Given the description of an element on the screen output the (x, y) to click on. 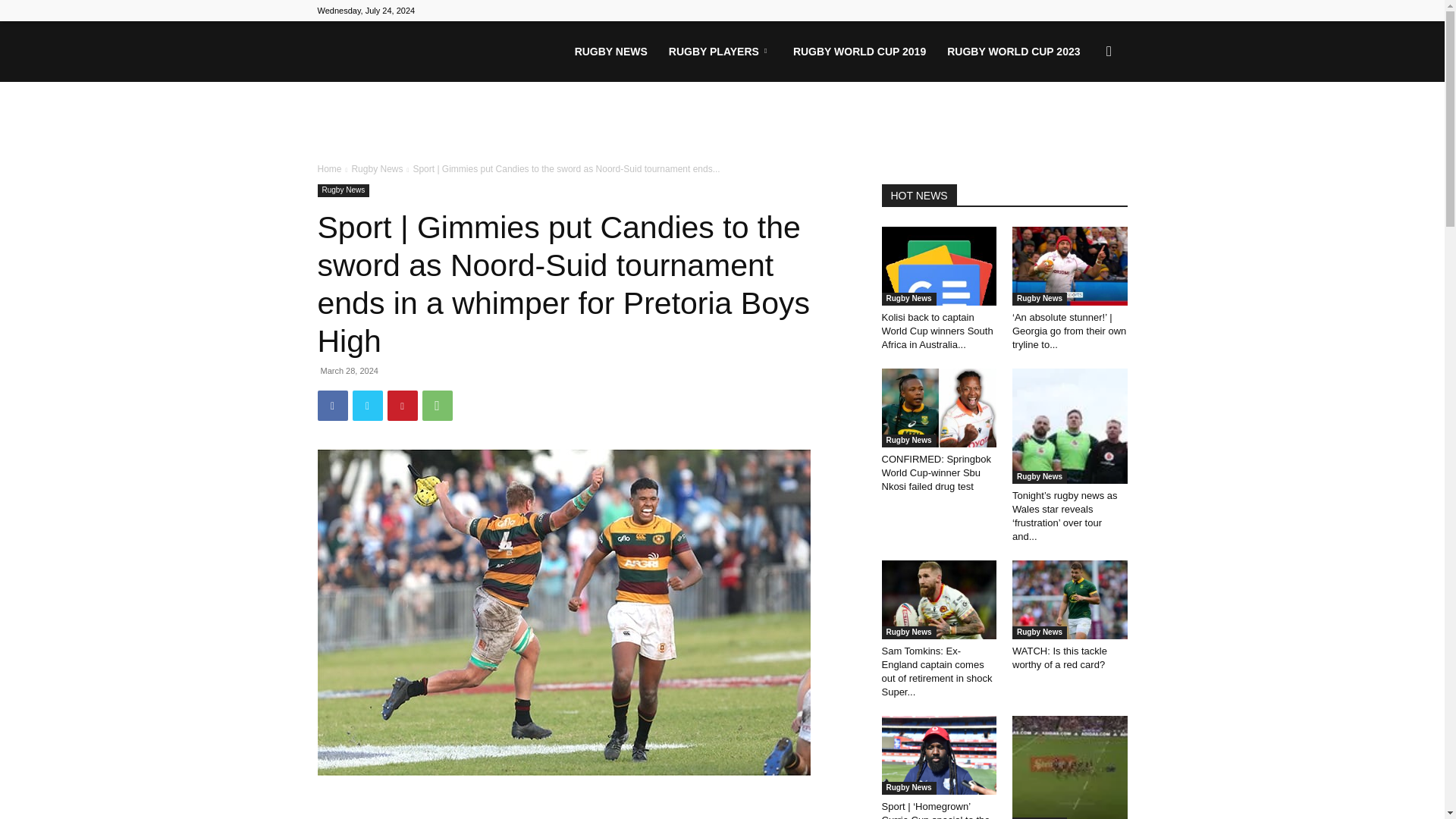
RUGBY PLAYERS (720, 51)
WhatsApp (436, 405)
Pinterest (401, 405)
RUGBY WORLD CUP 2019 (859, 51)
Advertisement (721, 122)
Search (1085, 124)
Facebook (332, 405)
Advertisement (580, 807)
View all posts in Rugby News (376, 168)
Twitter (366, 405)
RUGBY NEWS (611, 51)
